Given the description of an element on the screen output the (x, y) to click on. 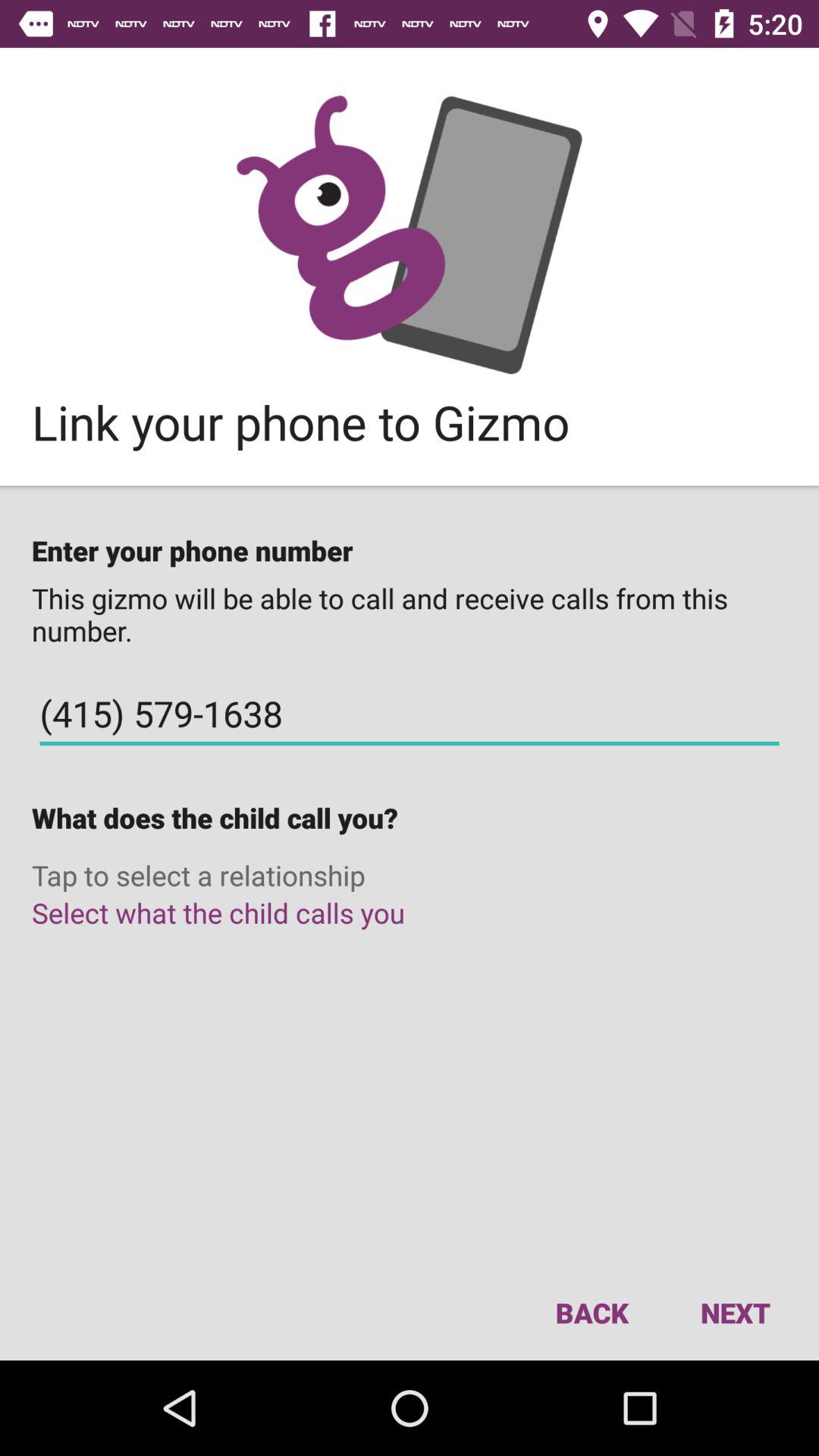
press item next to back icon (735, 1312)
